Given the description of an element on the screen output the (x, y) to click on. 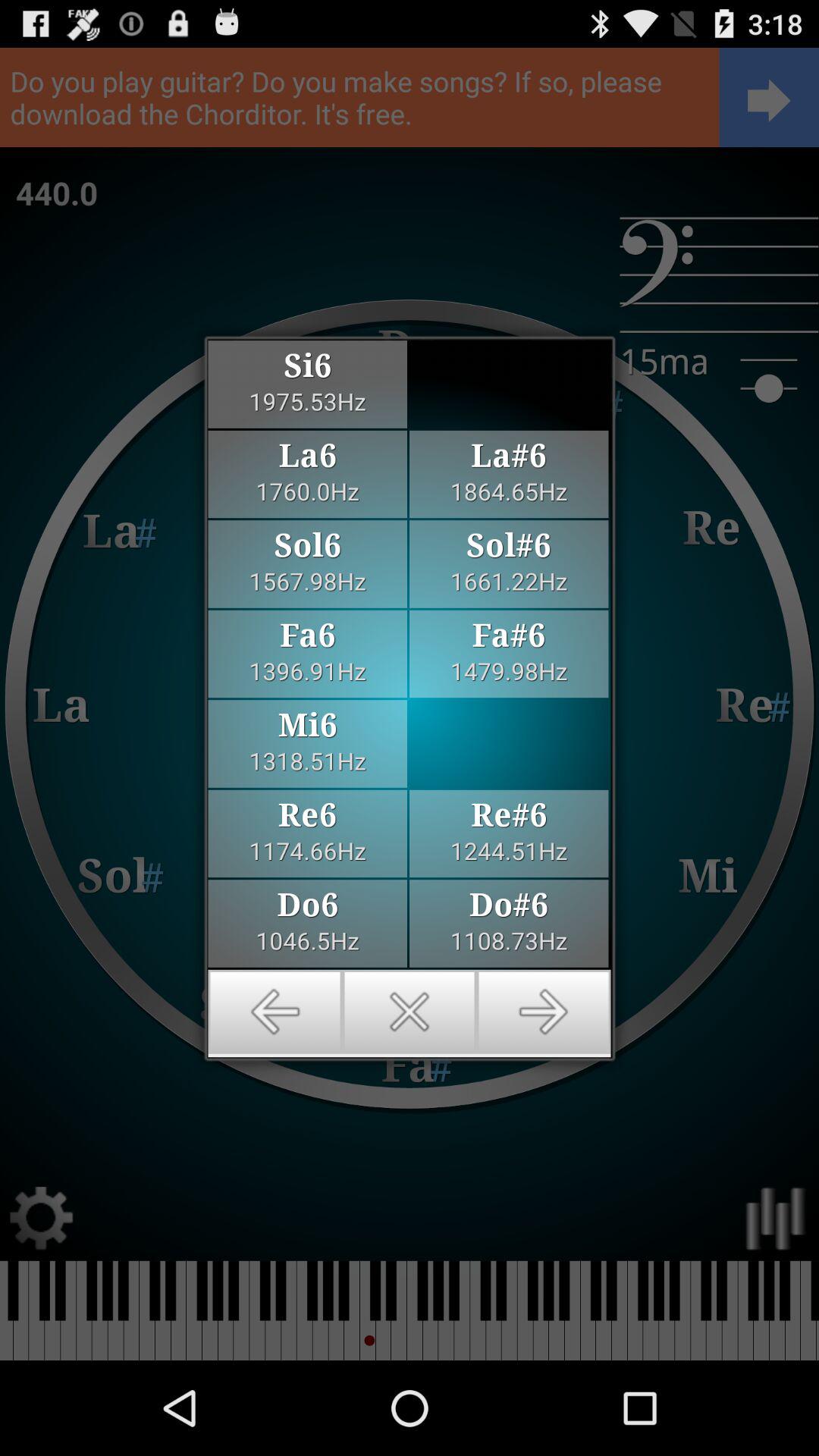
exit the page (409, 1011)
